Given the description of an element on the screen output the (x, y) to click on. 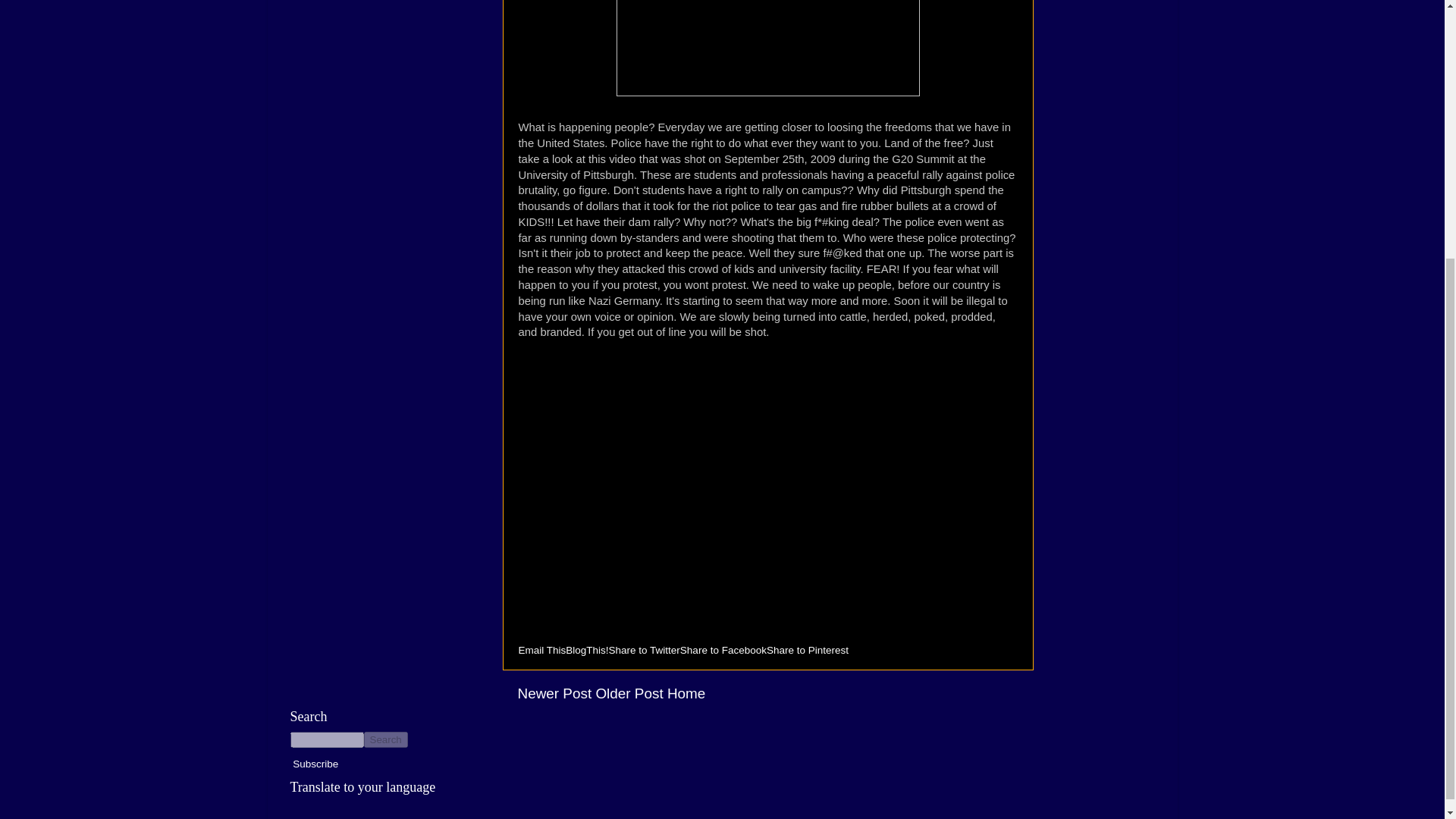
Search (385, 739)
Share to Twitter (643, 650)
BlogThis! (587, 650)
Email This (542, 650)
Email This (542, 650)
BlogThis! (587, 650)
Share to Pinterest (807, 650)
Share to Twitter (643, 650)
Older Post (628, 693)
search (325, 739)
